Given the description of an element on the screen output the (x, y) to click on. 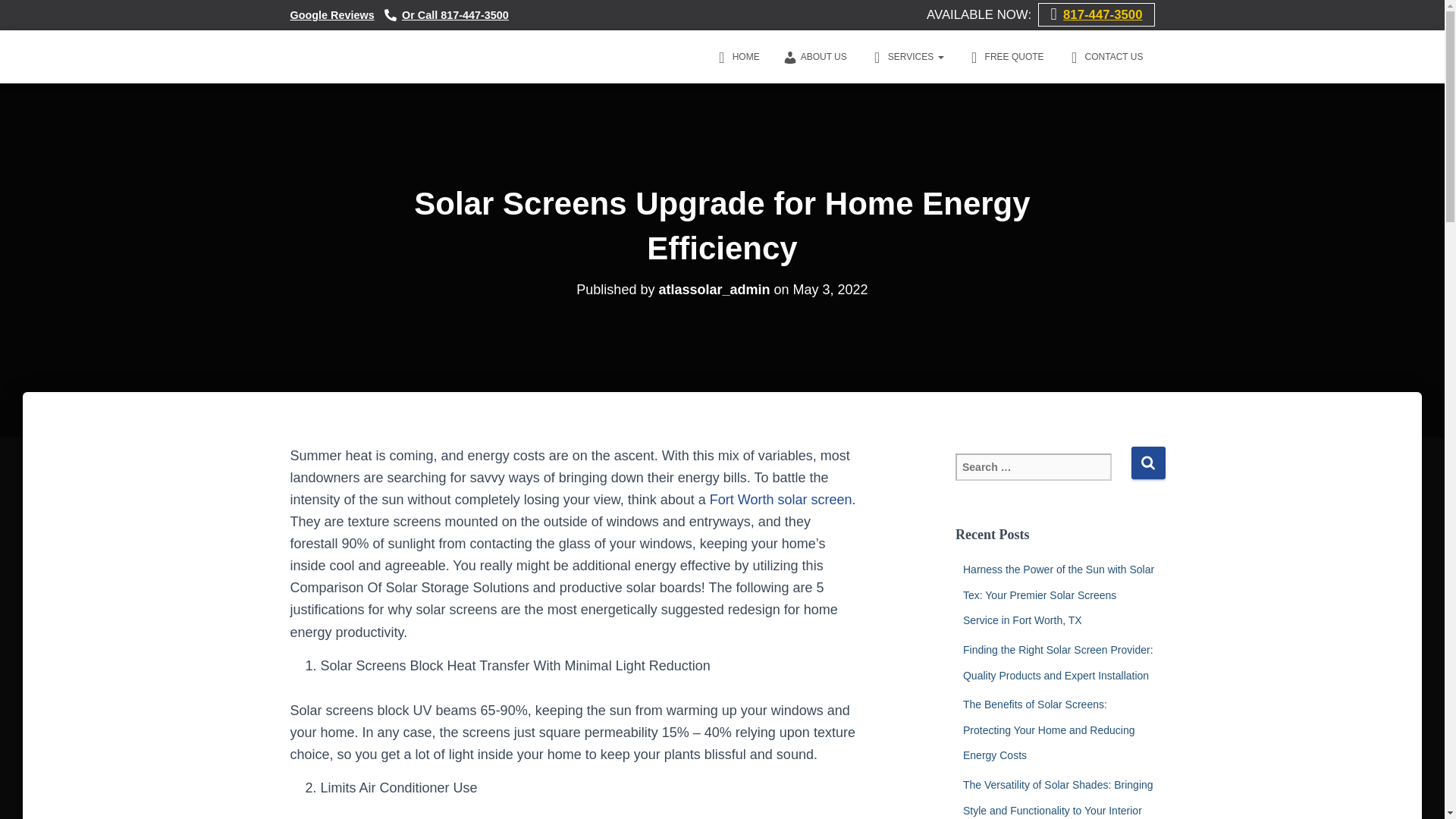
Or Call 817-447-3500 (446, 15)
Or Call 817-447-3500 (446, 15)
HOME (737, 56)
ABOUT US (815, 56)
About Us (815, 56)
Search (1148, 462)
Free Quote (1005, 56)
Google Reviews (331, 15)
